Given the description of an element on the screen output the (x, y) to click on. 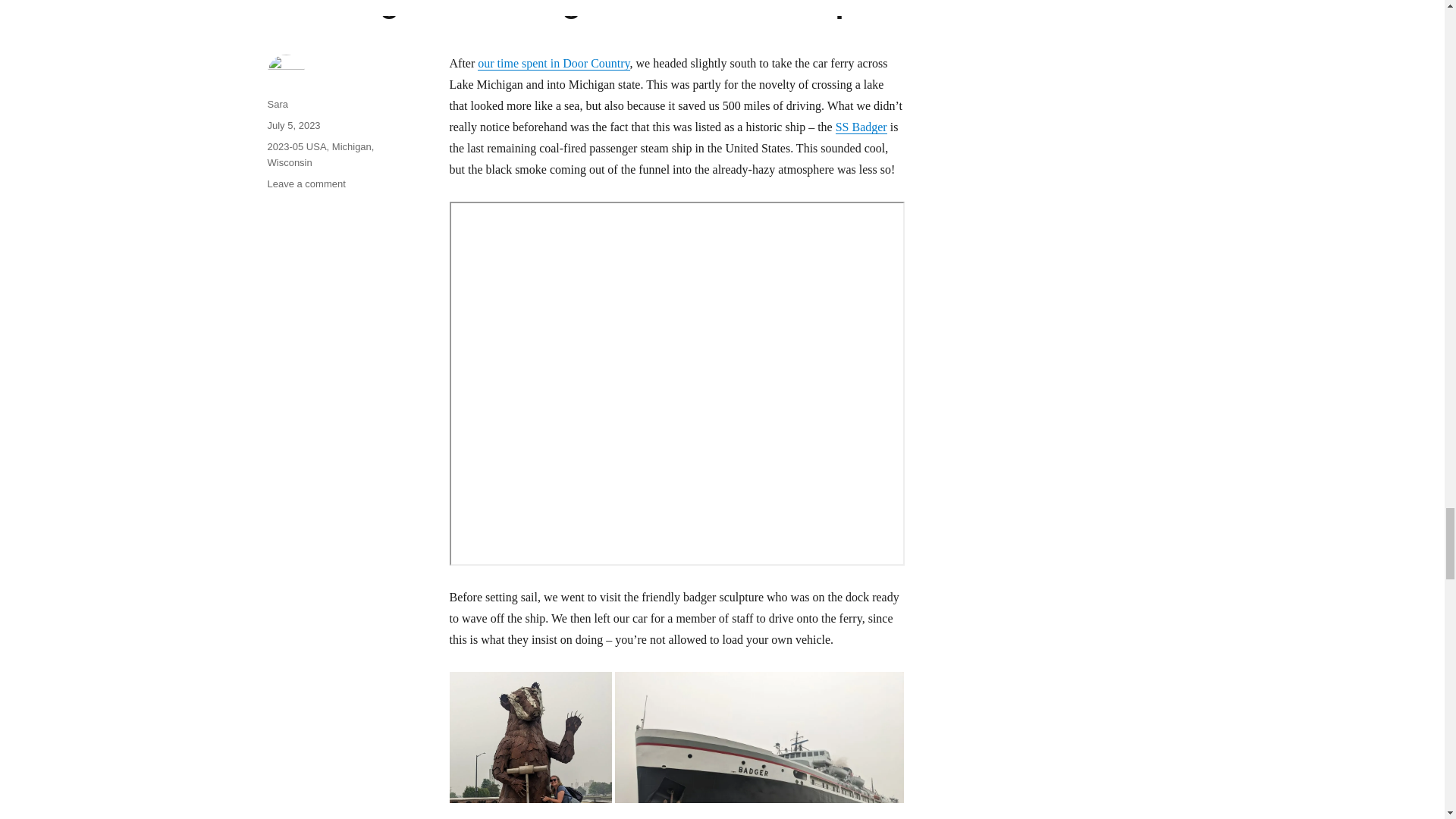
Crossing Lake Michigan on a steam ship (581, 9)
our time spent in Door Country (552, 62)
Sara (276, 103)
SS Badger (860, 126)
